Given the description of an element on the screen output the (x, y) to click on. 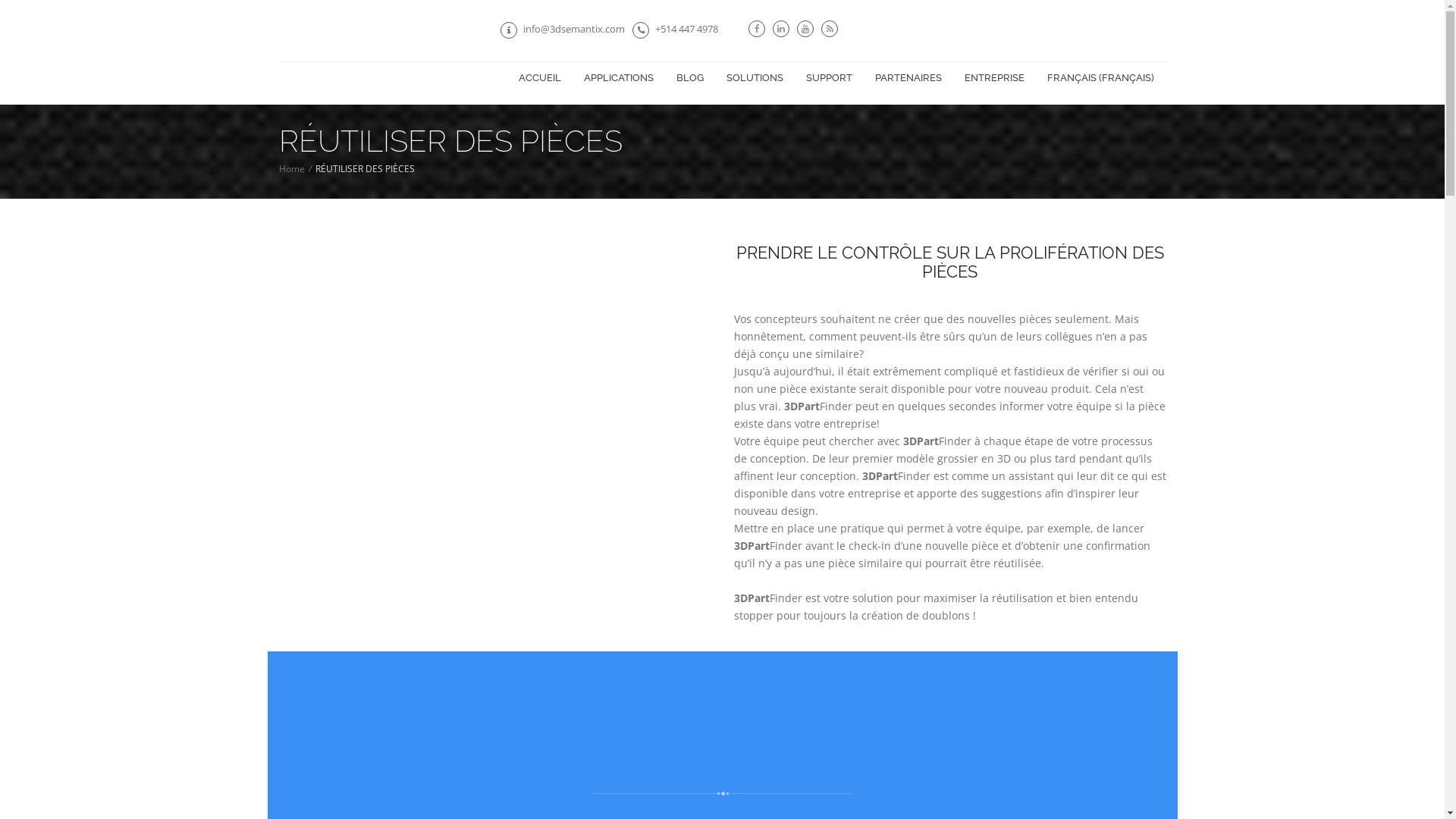
3DPartFinder Element type: hover (279, 22)
Home Element type: text (291, 168)
RSS Element type: hover (829, 27)
PARTENAIRES Element type: text (907, 77)
BLOG Element type: text (689, 77)
ACCUEIL Element type: text (538, 77)
APPLICATIONS Element type: text (617, 77)
Youtube Element type: hover (805, 27)
LinkedIn Element type: hover (780, 27)
ENTREPRISE Element type: text (993, 77)
SOLUTIONS Element type: text (753, 77)
SUPPORT Element type: text (828, 77)
Facebook Element type: hover (756, 27)
